Given the description of an element on the screen output the (x, y) to click on. 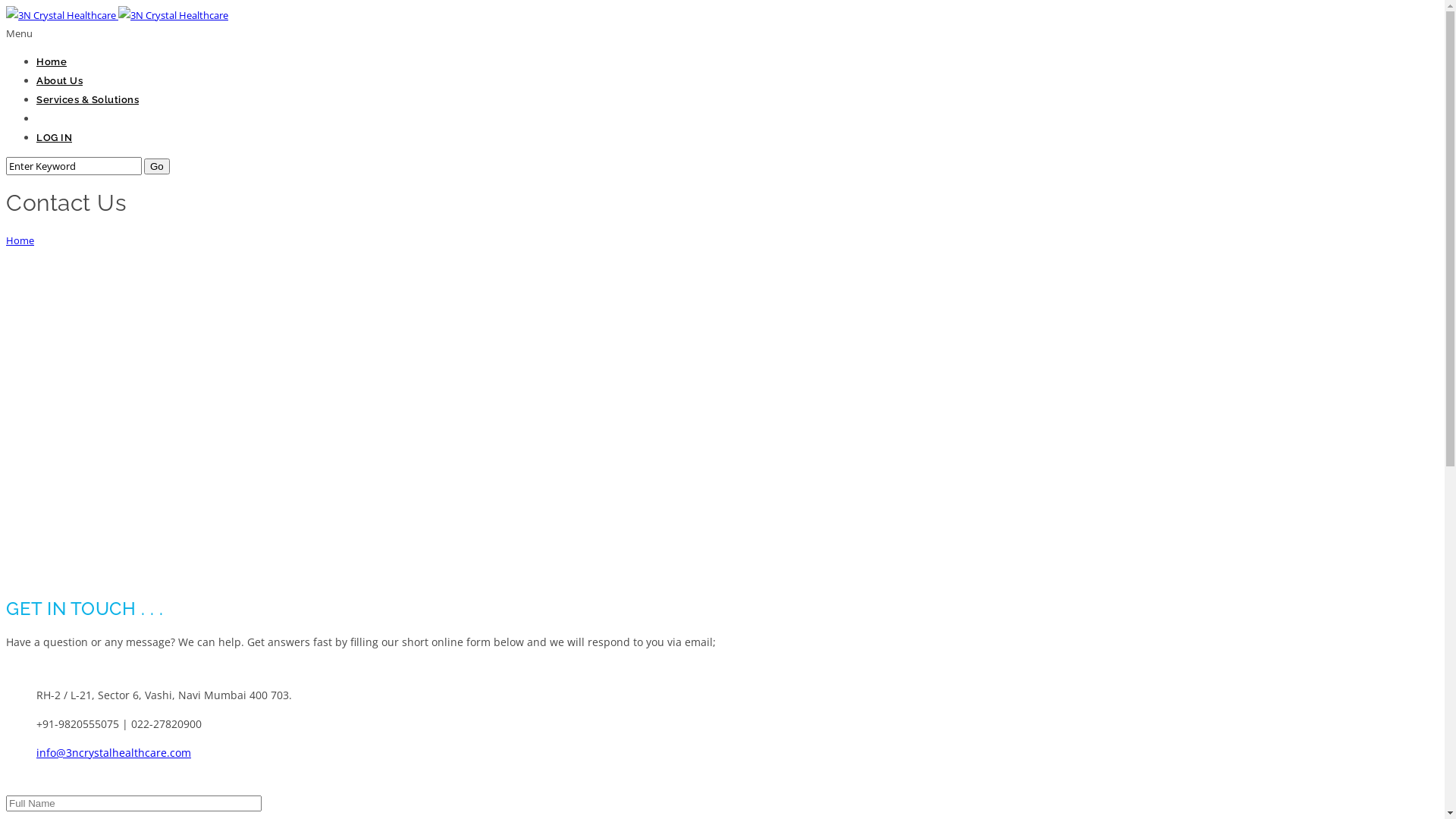
Home Element type: text (20, 240)
info@3ncrystalhealthcare.com Element type: text (113, 752)
3N Crystal Healthcare Element type: hover (61, 15)
3N Crystal Healthcare Element type: hover (173, 15)
Services & Solutions Element type: text (87, 99)
Home Element type: text (51, 61)
3N Crystal Healthcare Element type: hover (117, 14)
Go Element type: text (156, 166)
About Us Element type: text (59, 80)
LOG IN Element type: text (54, 137)
Contact Us Element type: text (63, 118)
